Given the description of an element on the screen output the (x, y) to click on. 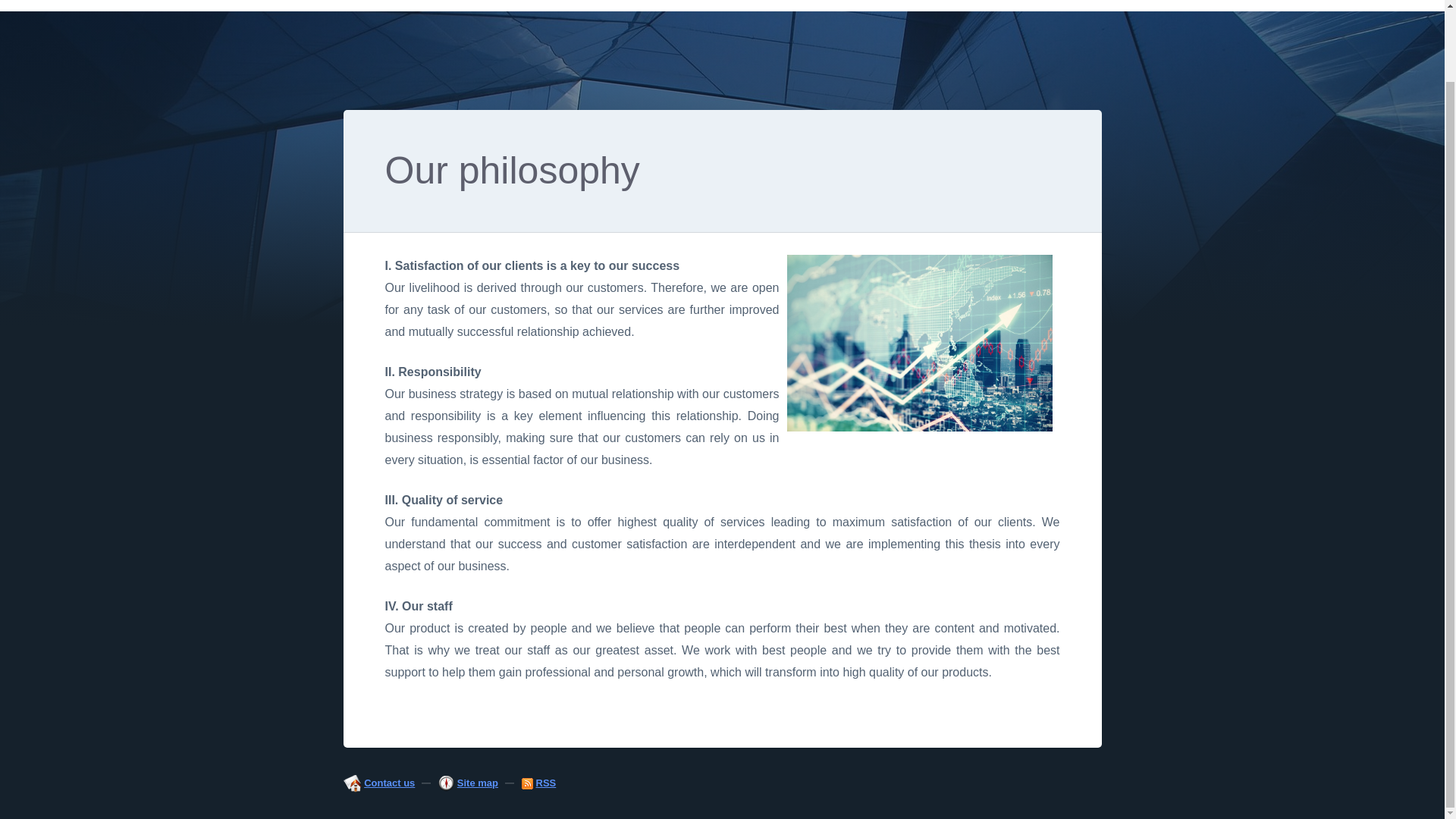
PROTTECO INTERNATIONAL LTD. (467, 5)
Site map (477, 782)
RSS (545, 782)
Contact us (389, 782)
